Given the description of an element on the screen output the (x, y) to click on. 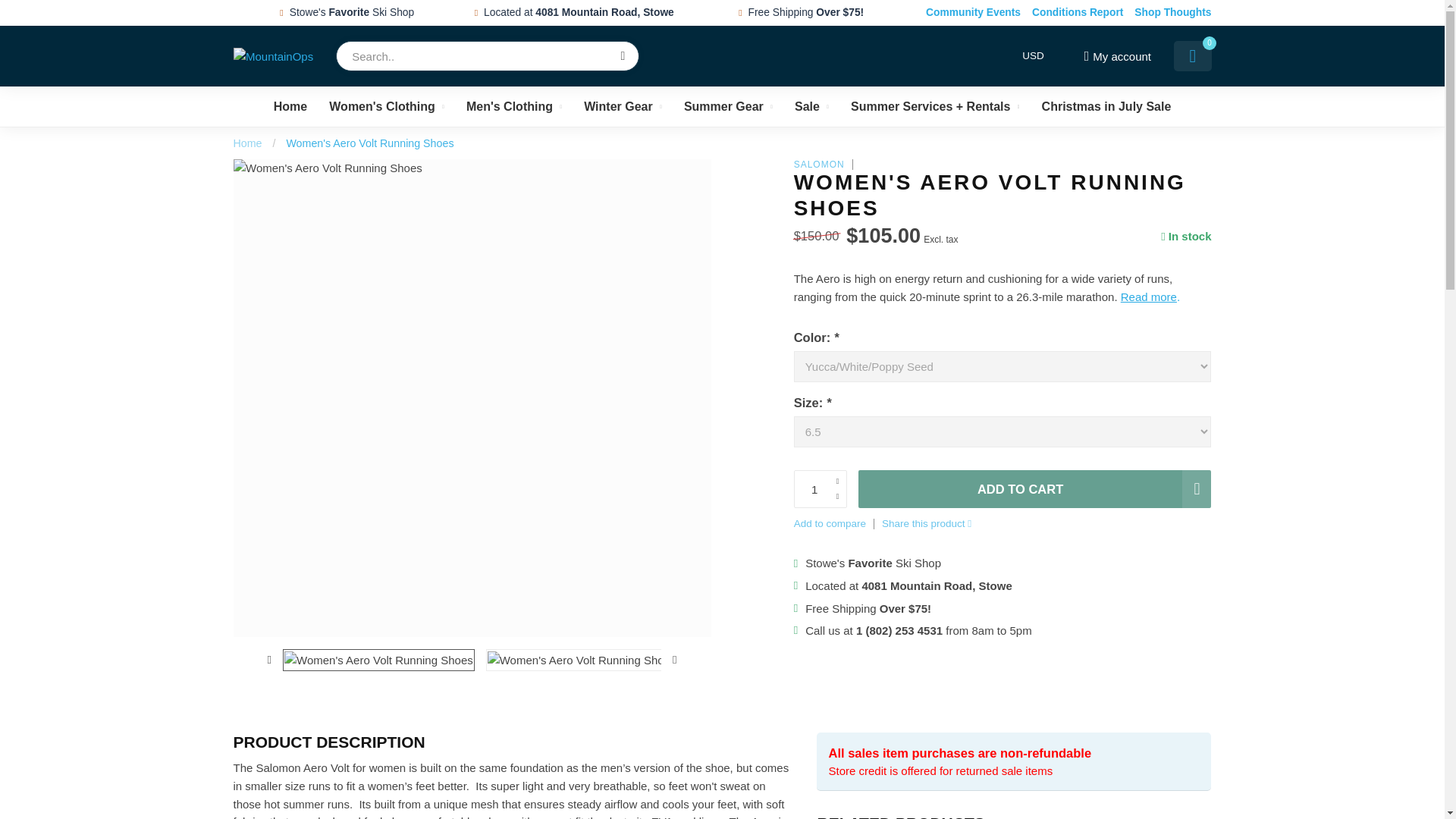
Home (247, 143)
1 (820, 488)
Community Events (973, 12)
My account (1116, 55)
Men's Clothing (513, 106)
Home (290, 106)
Women's Clothing (386, 106)
0 (1192, 55)
Conditions Report (1077, 12)
Shop Thoughts (1172, 12)
